Given the description of an element on the screen output the (x, y) to click on. 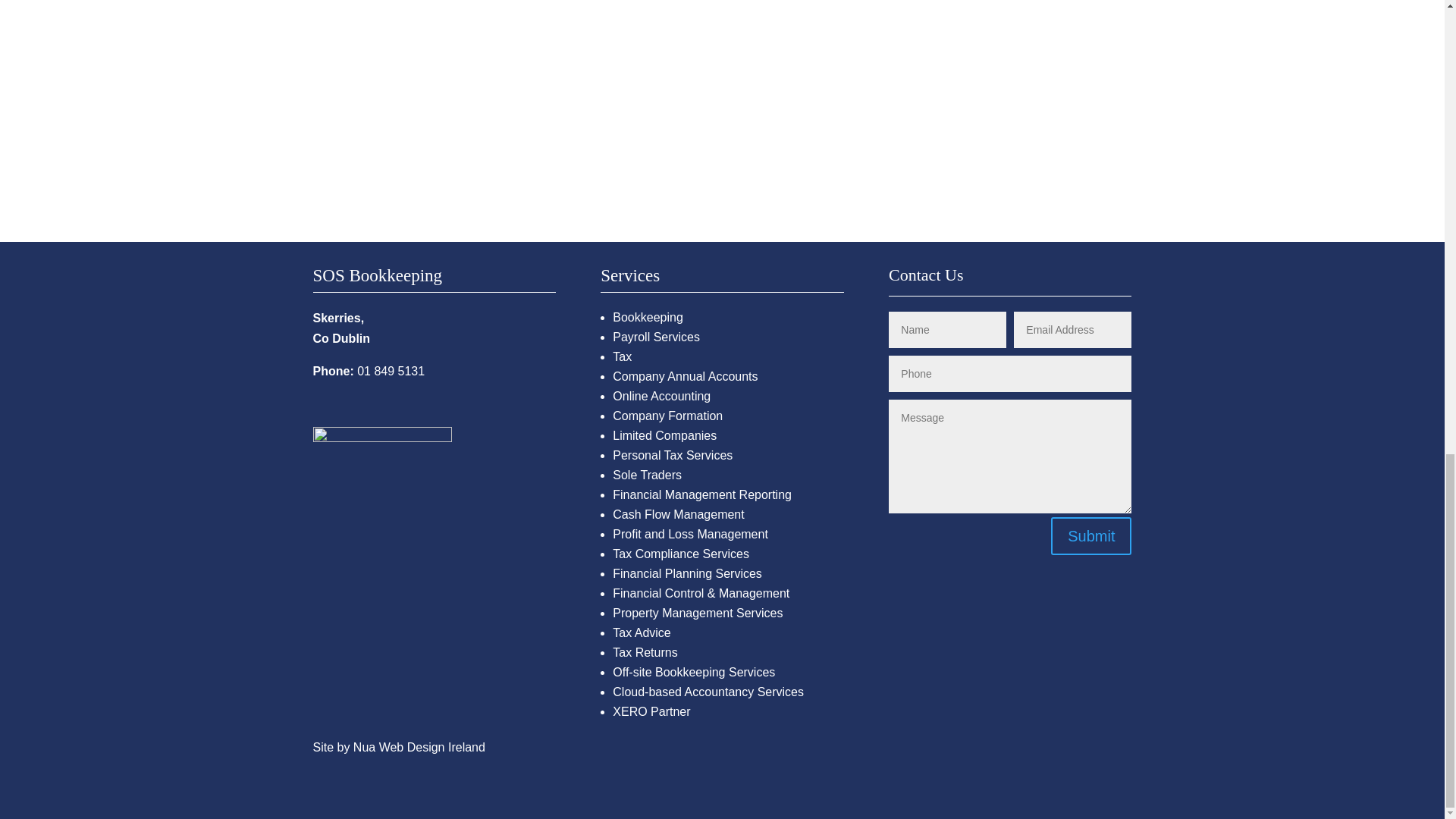
Tax (621, 356)
Web Design Ireland (431, 747)
Bookkeeping (647, 317)
Submit (1091, 535)
01 849 5131 (390, 370)
Payroll Services (656, 336)
Online Accounting (661, 395)
Company Annual Accounts (684, 376)
Cloud-based Accountancy Services (707, 691)
